Given the description of an element on the screen output the (x, y) to click on. 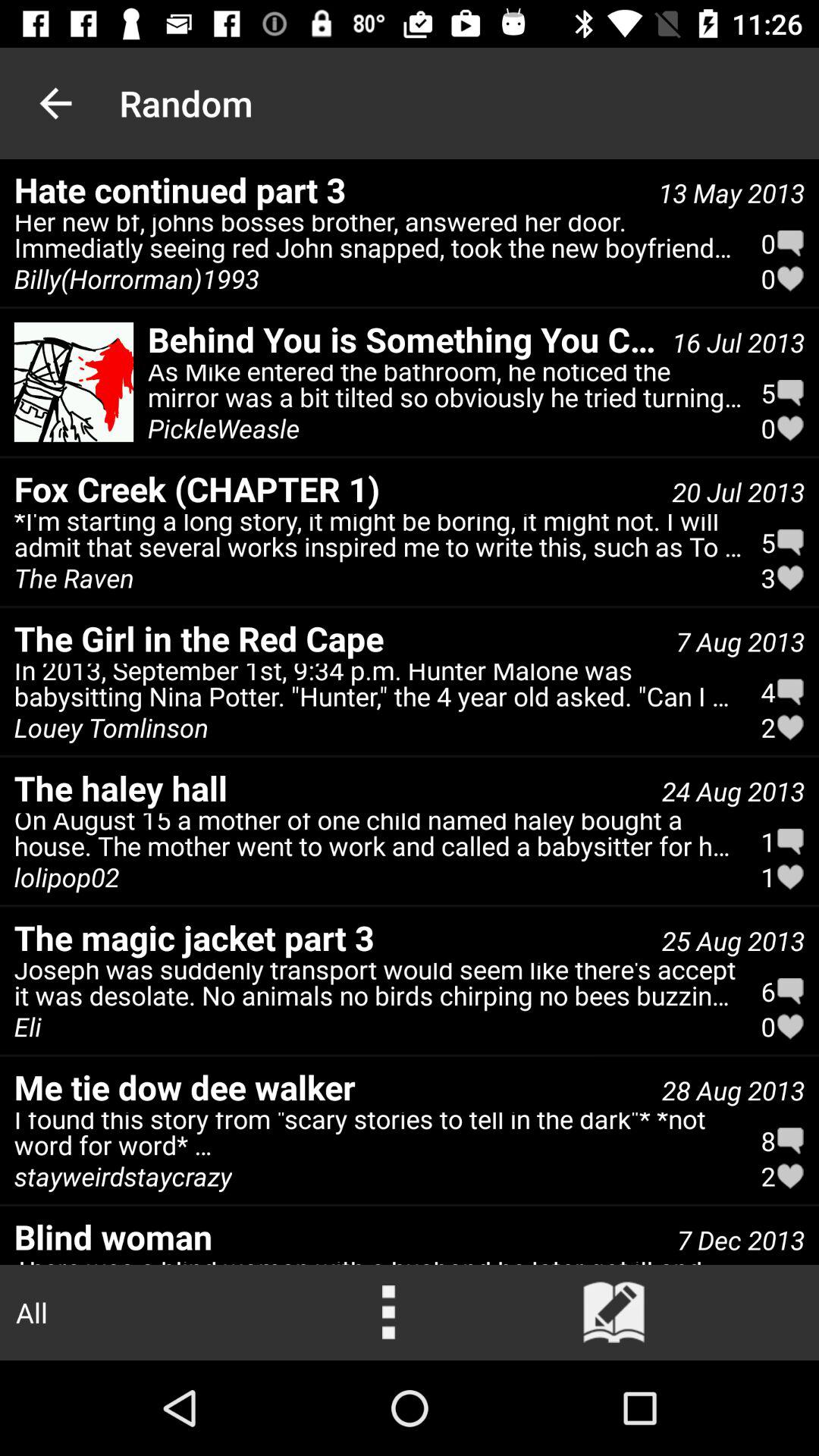
turn off icon next to the 4 item (111, 727)
